Given the description of an element on the screen output the (x, y) to click on. 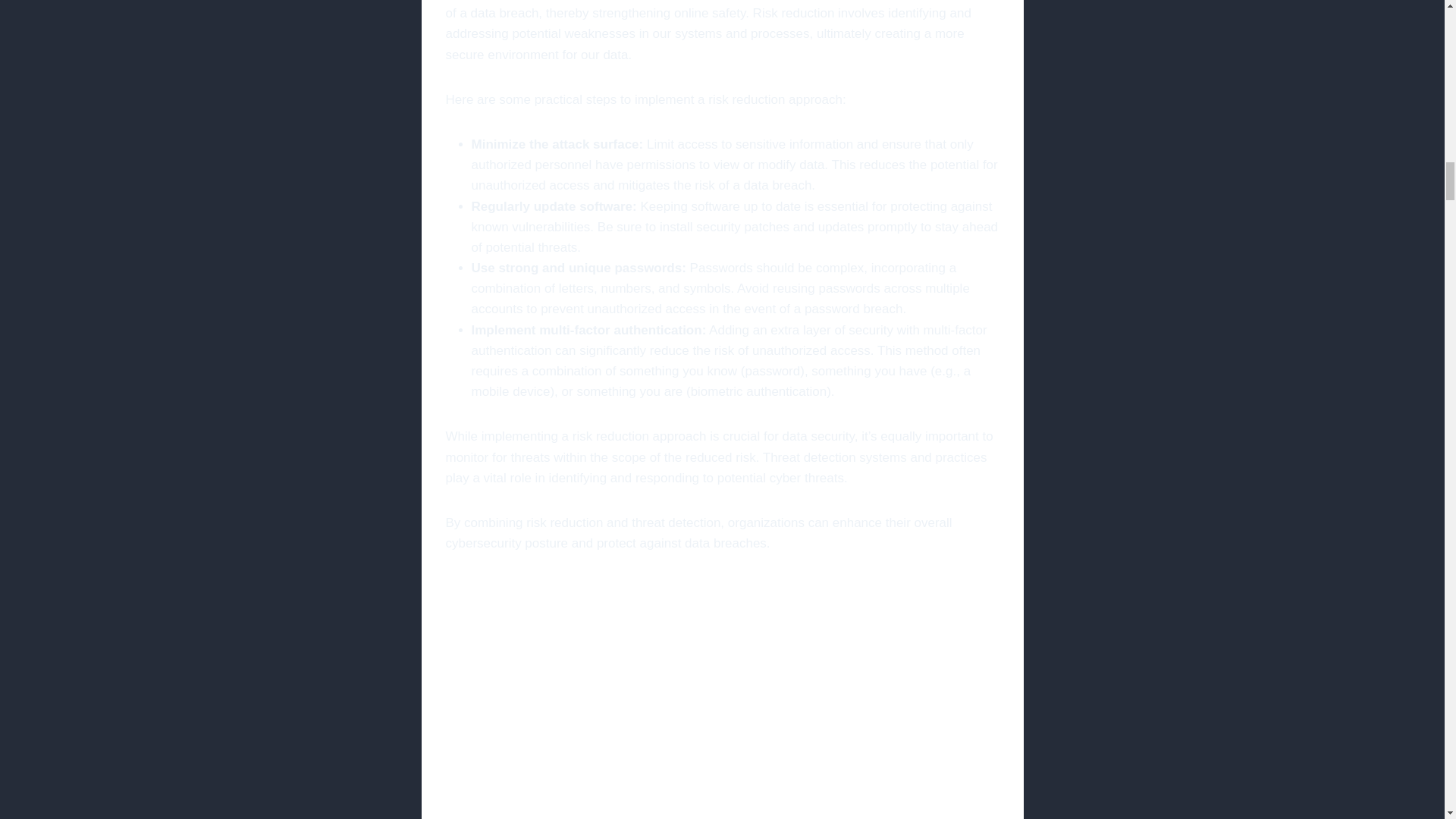
Risk Reduction Approach to Cybersecurity (721, 698)
